Given the description of an element on the screen output the (x, y) to click on. 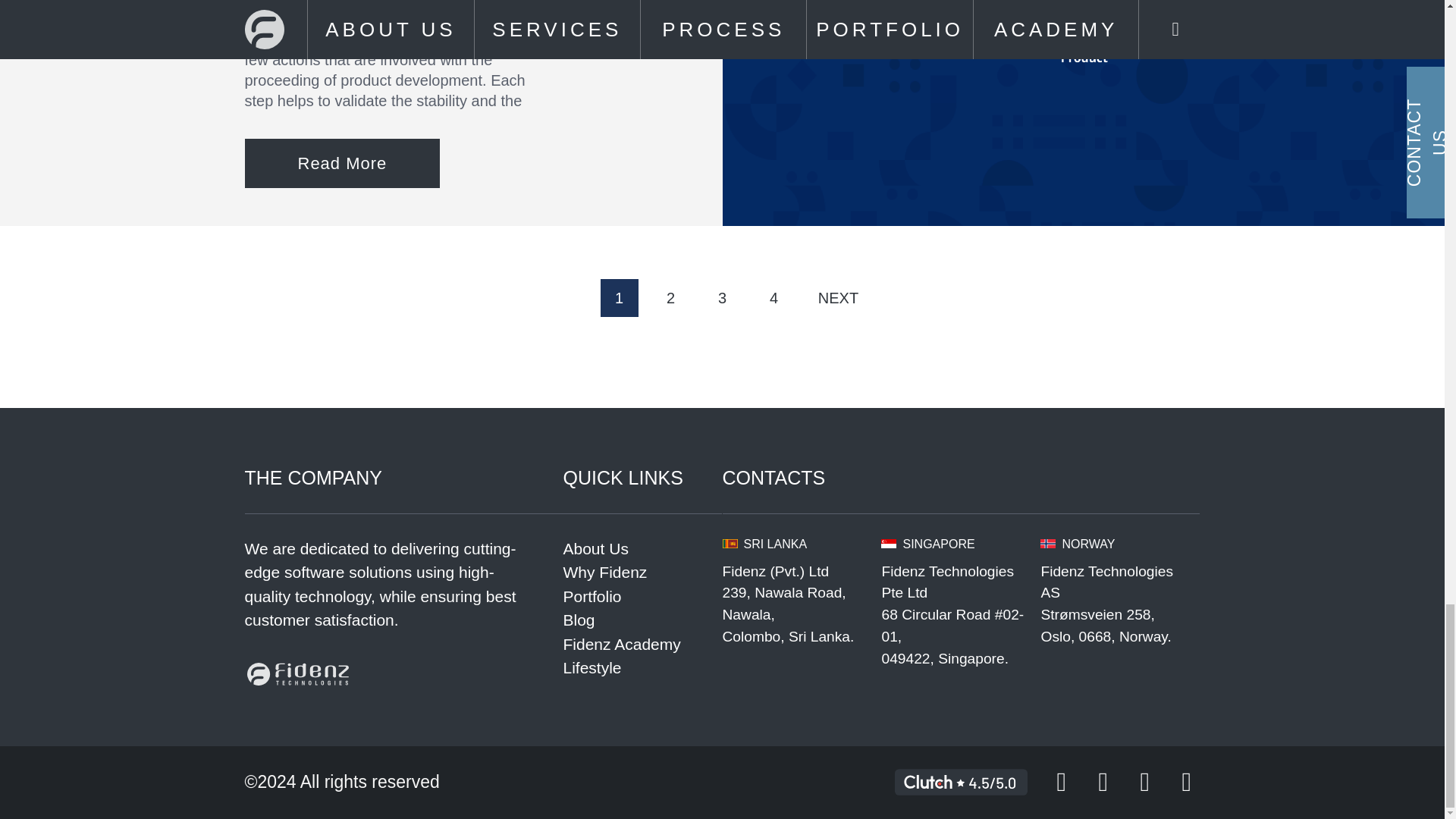
3 (722, 297)
Portfolio (642, 596)
Fidenz Academy (642, 644)
About Us (642, 549)
4 (774, 297)
2 (671, 297)
Lifestyle (642, 668)
Read More (341, 163)
Why Fidenz (642, 572)
Blog (642, 620)
